Given the description of an element on the screen output the (x, y) to click on. 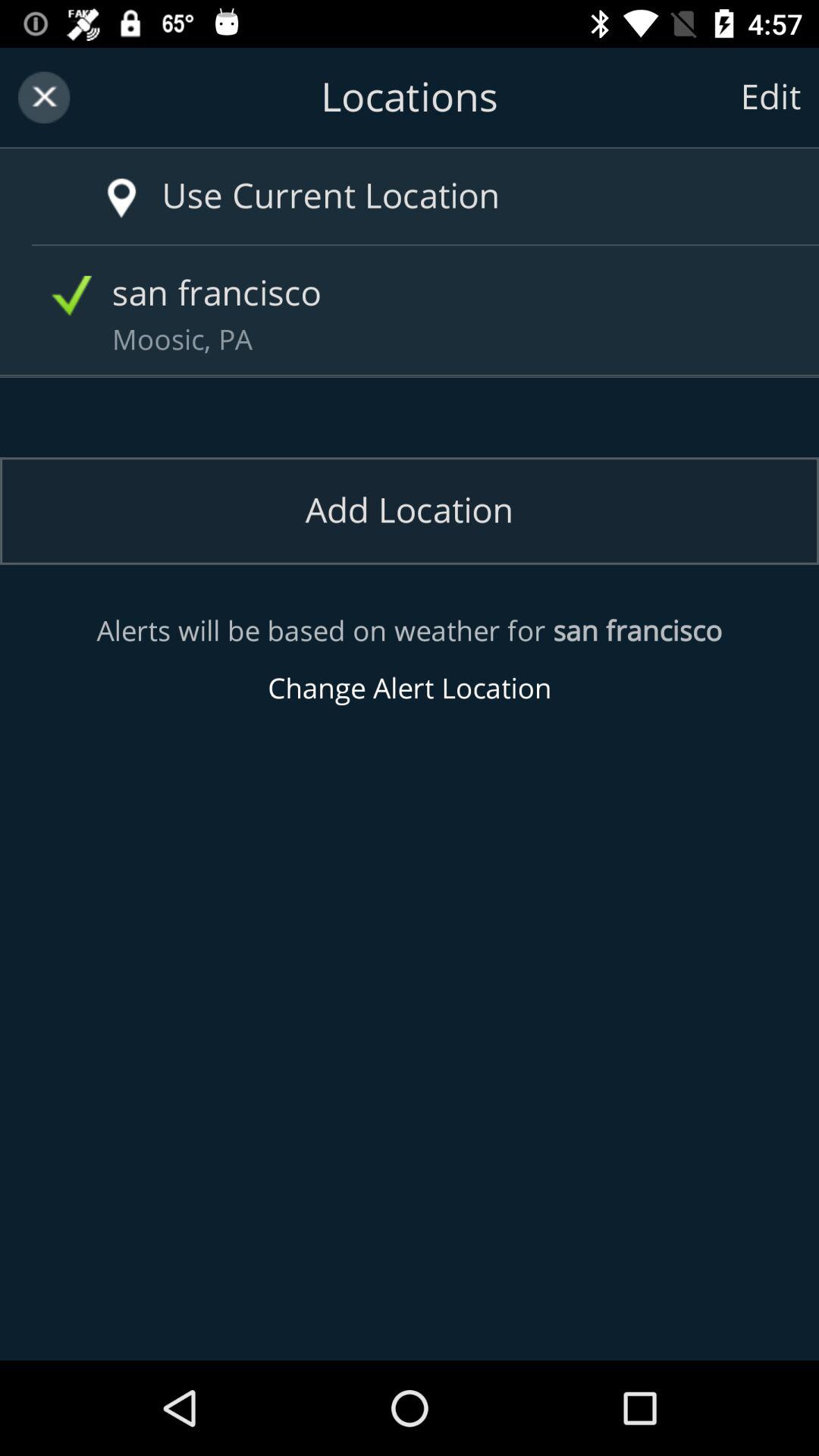
choose edit item (770, 97)
